Given the description of an element on the screen output the (x, y) to click on. 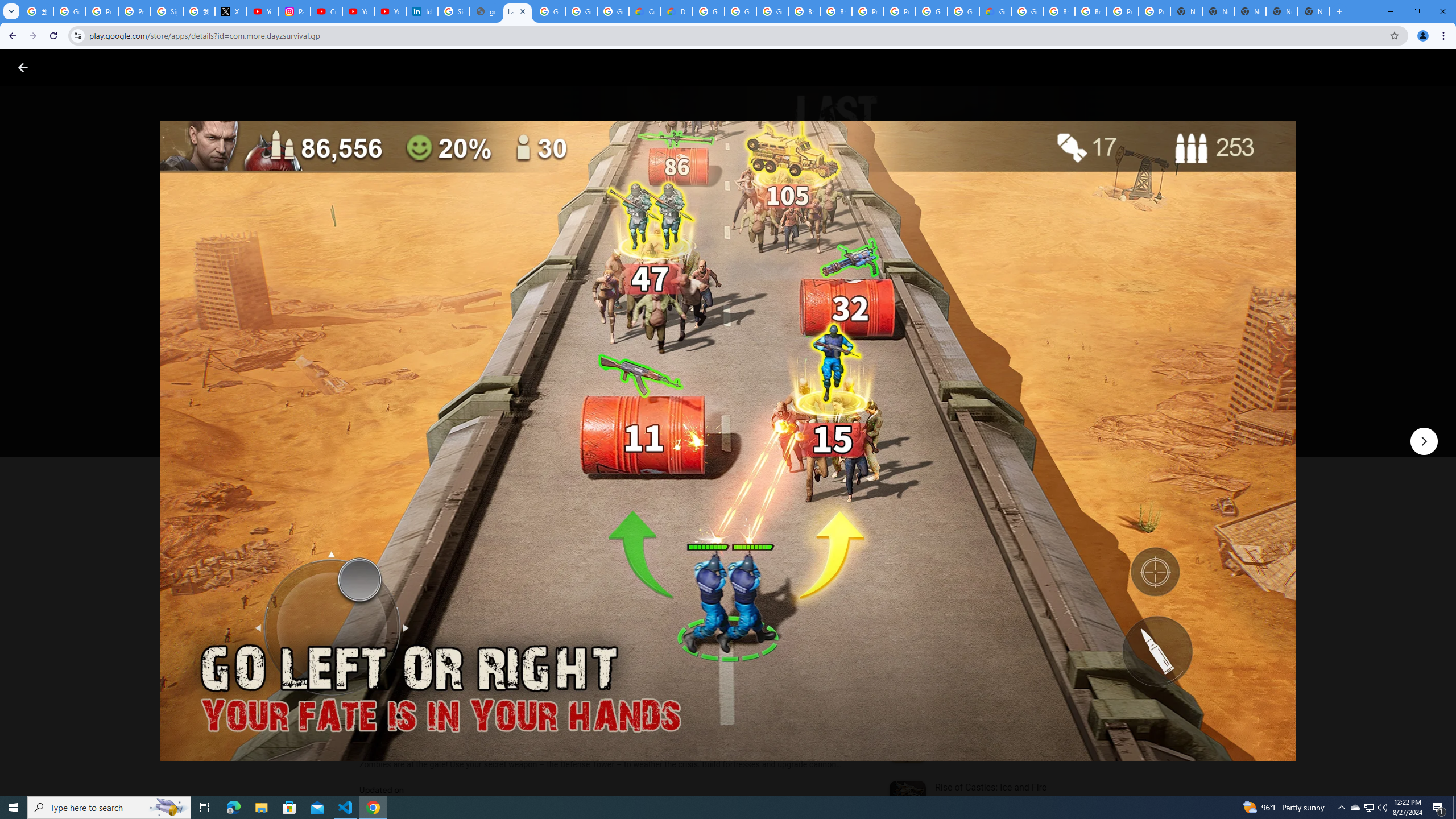
Apps (182, 67)
More info about this content rating (575, 385)
Google Cloud Platform (708, 11)
